Given the description of an element on the screen output the (x, y) to click on. 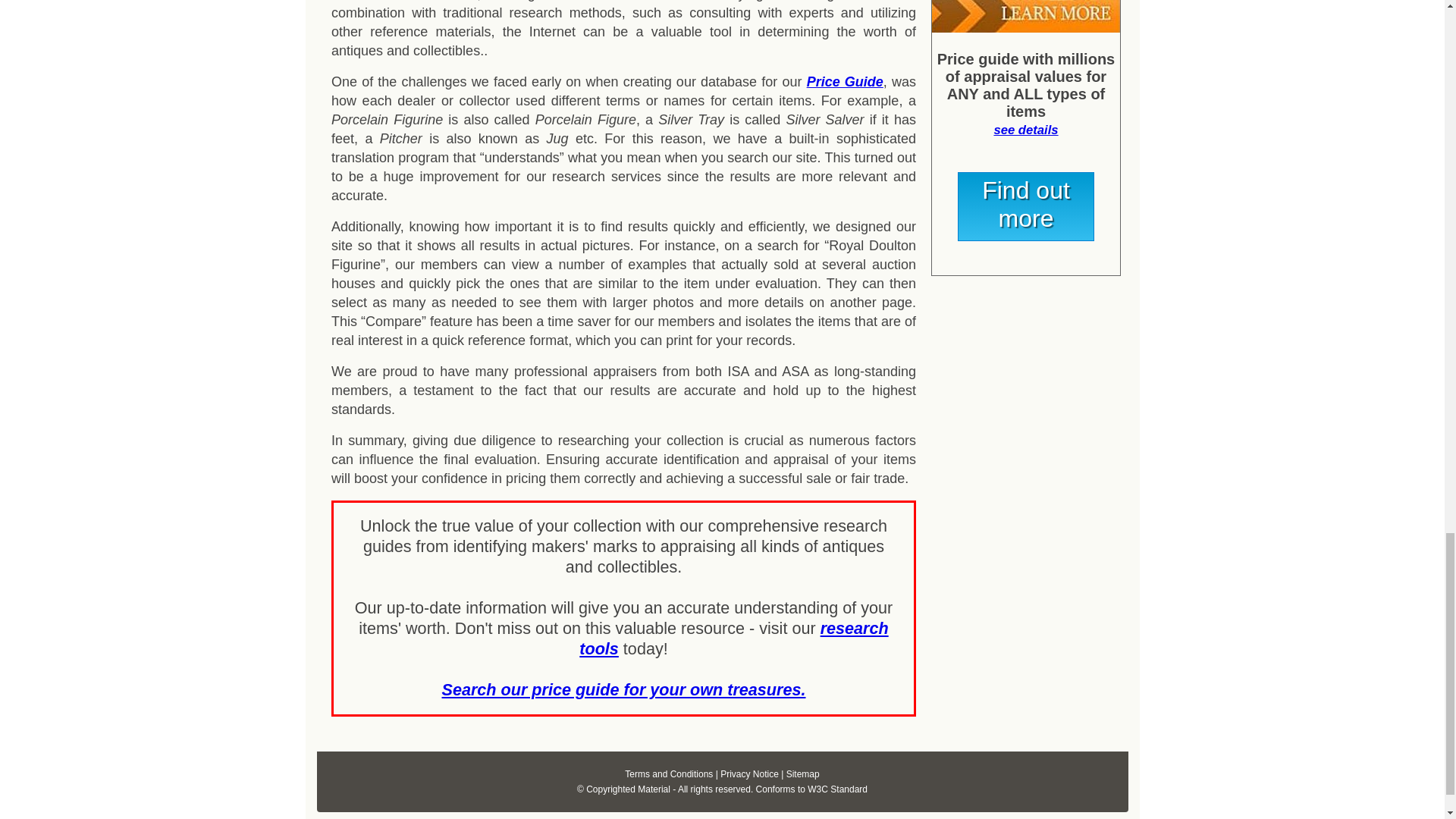
Privacy Notice (749, 774)
research tools (733, 638)
Price Guide (844, 81)
Find out more (1026, 205)
Search our price guide for your own treasures. (623, 689)
Terms and Conditions (668, 774)
Sitemap (802, 774)
see details (1025, 129)
